Given the description of an element on the screen output the (x, y) to click on. 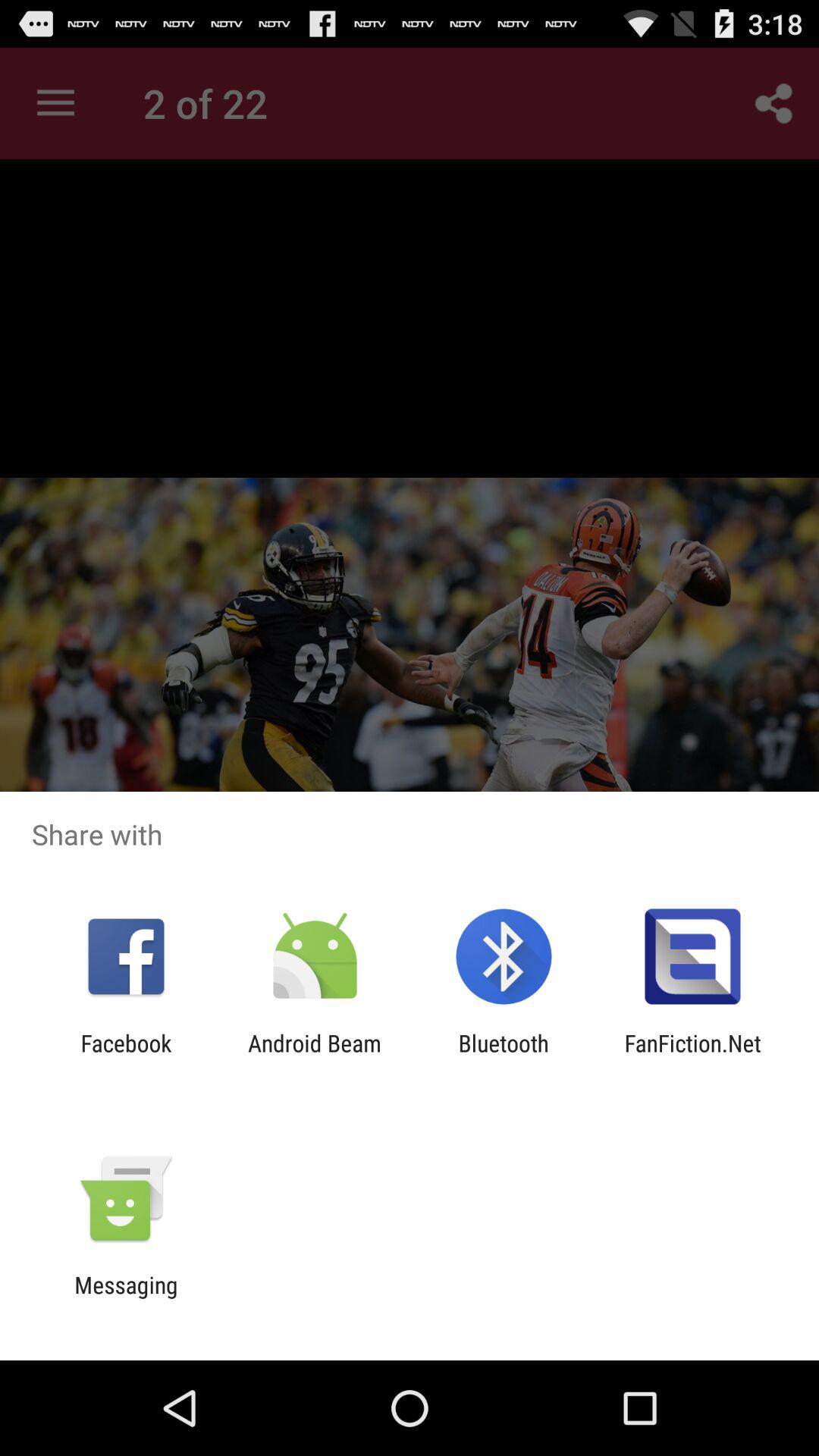
flip to android beam item (314, 1056)
